Given the description of an element on the screen output the (x, y) to click on. 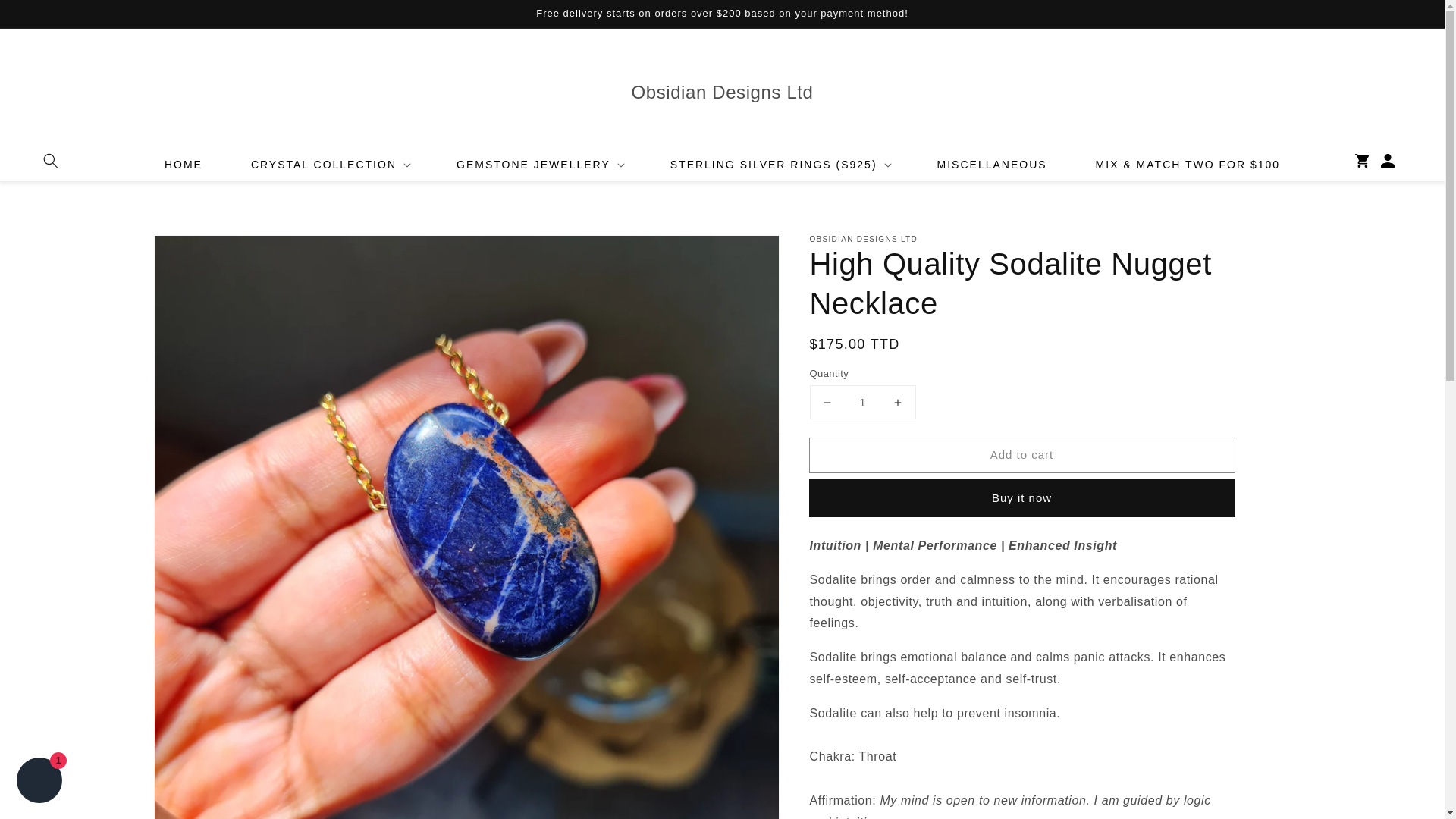
Skip to content (45, 16)
HOME (183, 164)
Shopify online store chat (38, 781)
Obsidian Designs Ltd (721, 92)
1 (862, 401)
